Given the description of an element on the screen output the (x, y) to click on. 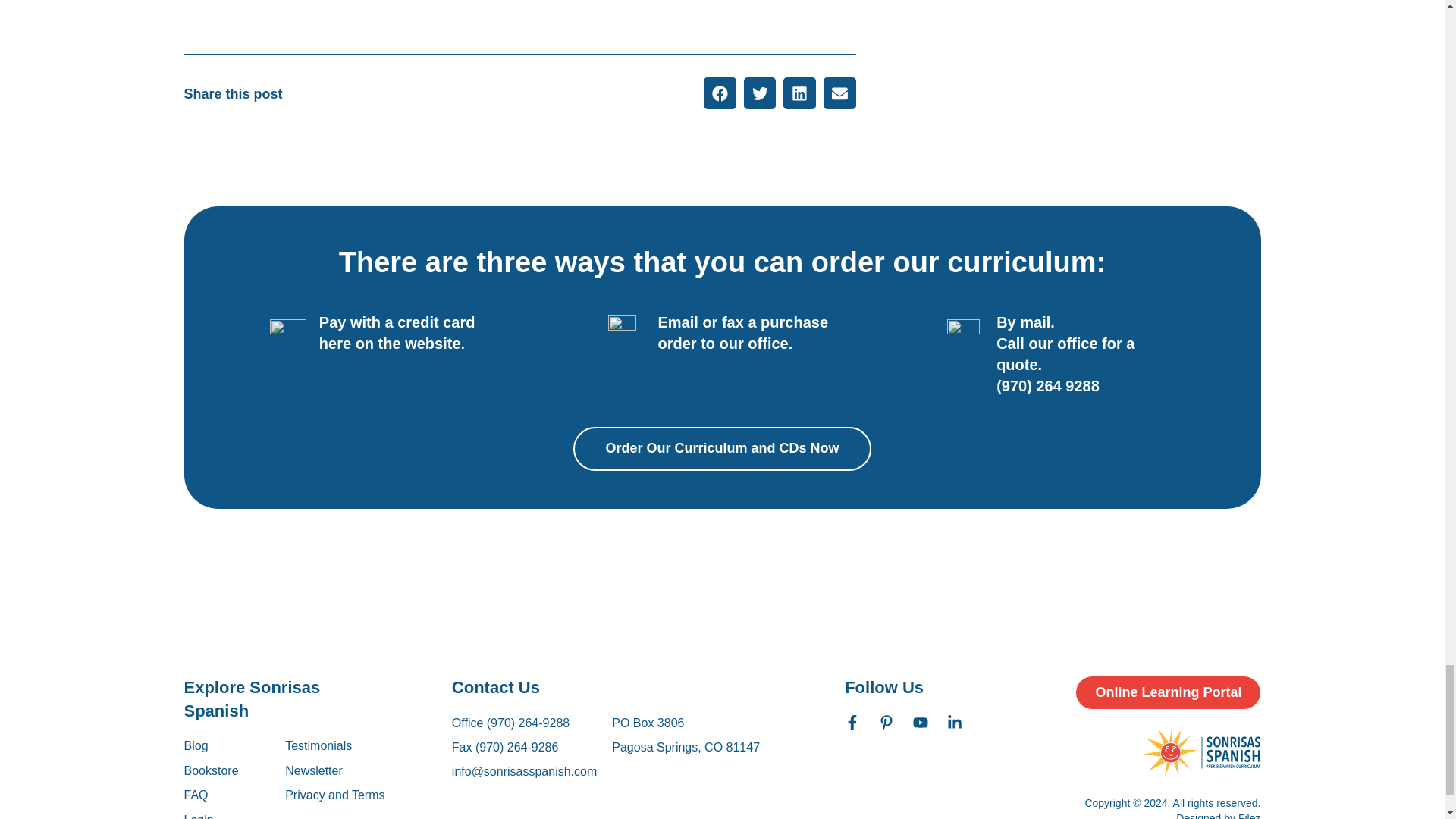
Newsletter (334, 770)
FAQ (210, 795)
Blog (210, 745)
Order Our Curriculum and CDs Now (721, 448)
Login (197, 815)
Bookstore (210, 770)
Privacy and Terms (334, 795)
Testimonials (334, 745)
Online Learning Portal (1167, 692)
